Given the description of an element on the screen output the (x, y) to click on. 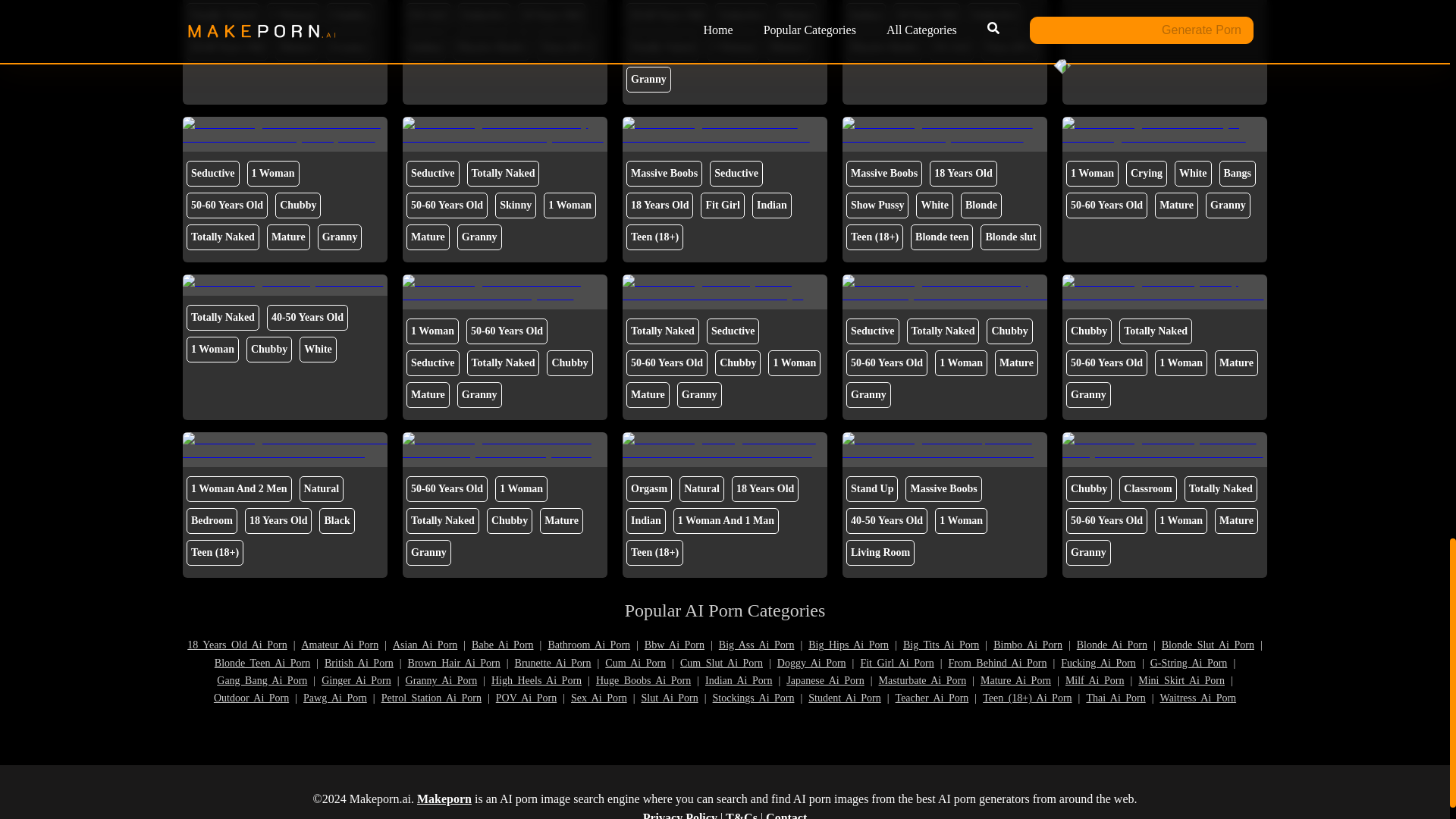
Indian (865, 15)
50-60 Years Old (666, 15)
18 Years Old (551, 15)
1 Woman (292, 15)
Massive Boobs (490, 47)
1 Woman (732, 47)
Granny (348, 47)
Mature (788, 47)
Seductive (741, 15)
Totally Naked (222, 15)
Totally Naked (662, 47)
Chubby (349, 15)
Seductive (484, 15)
50-60 Years Old (226, 47)
Mature (296, 47)
